Given the description of an element on the screen output the (x, y) to click on. 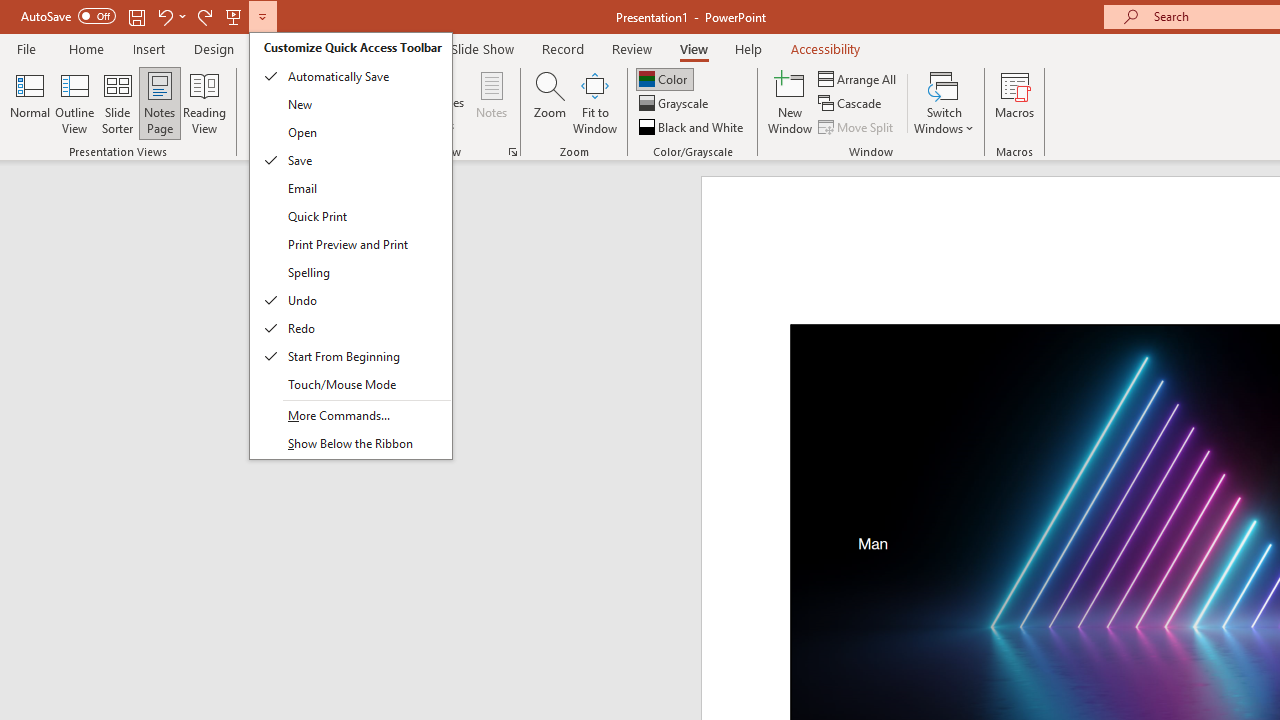
Macros (1014, 102)
New Window (790, 102)
Move Split (857, 126)
